Given the description of an element on the screen output the (x, y) to click on. 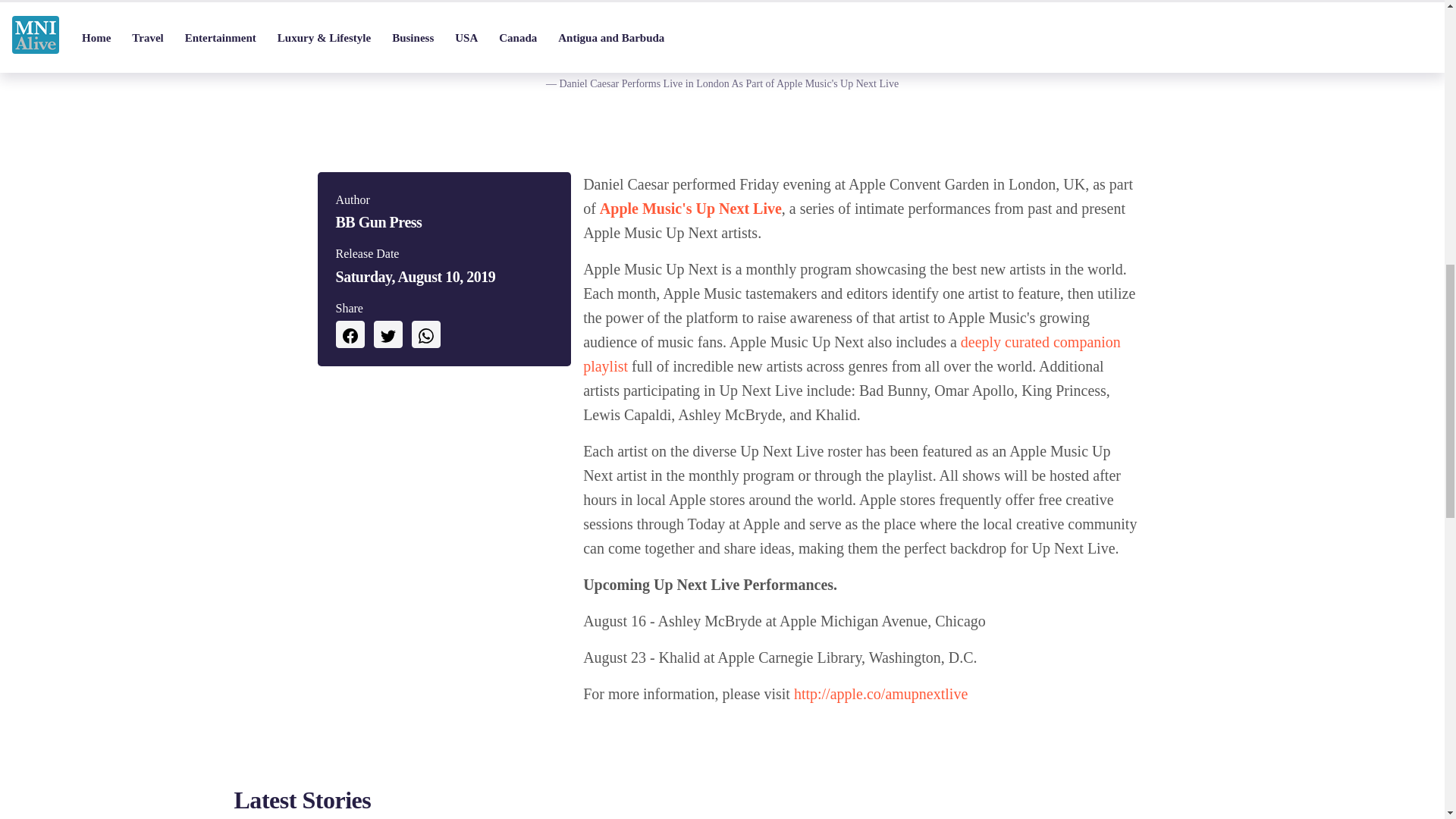
deeply curated companion playlist (852, 353)
Share on Twitter (386, 334)
Share on Facebook (349, 334)
Share on WhatsApp (424, 334)
Apple Music's Up Next Live (690, 208)
